Given the description of an element on the screen output the (x, y) to click on. 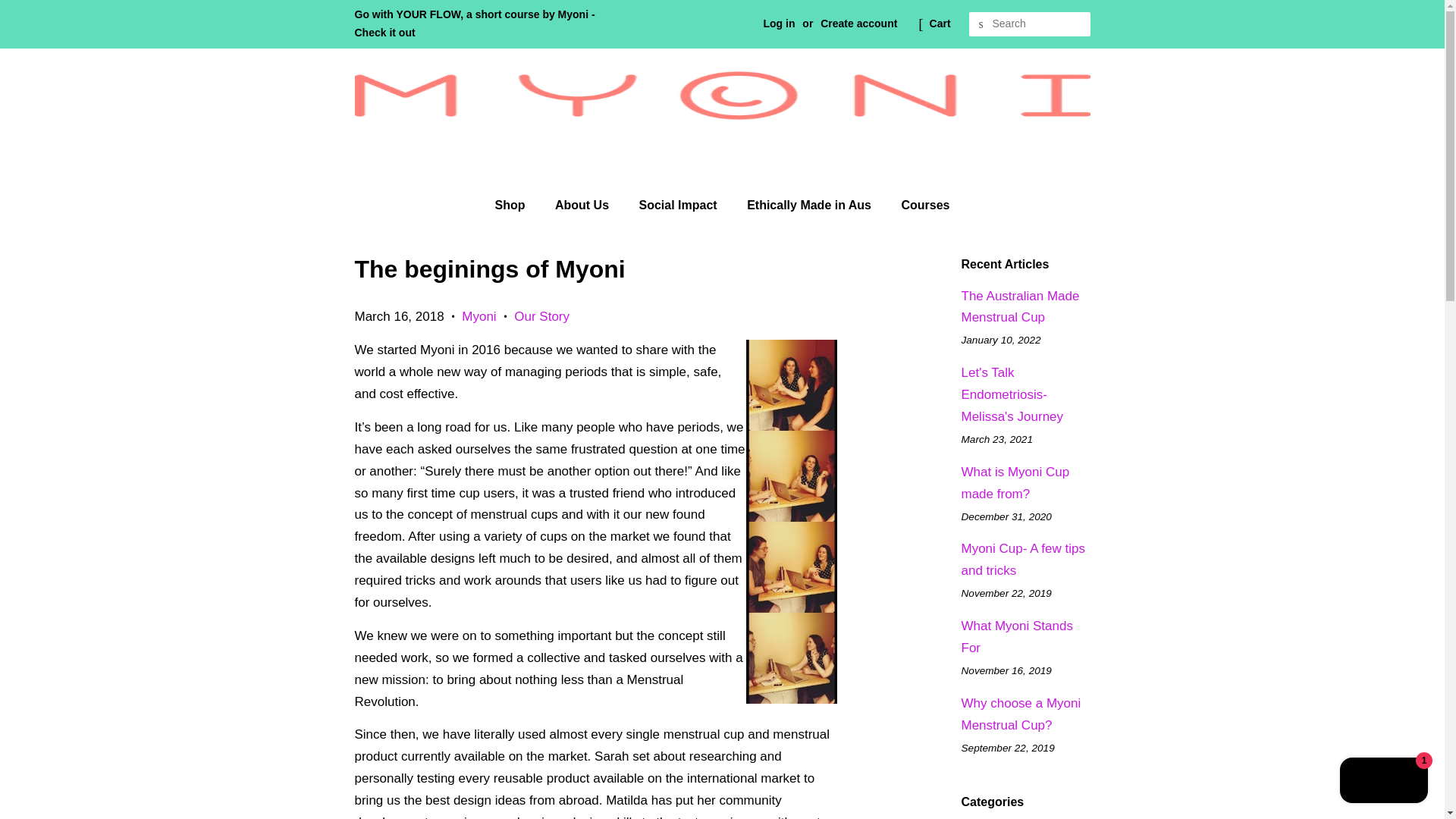
Log in (778, 23)
About Us (583, 204)
Ethically Made in Aus (810, 204)
Our Story (541, 316)
What is Myoni Cup made from? (1015, 483)
Courses (919, 204)
Social Impact (679, 204)
Search (980, 24)
Go with YOUR FLOW, a short course by Myoni - Check it out (475, 23)
Create account (858, 23)
Myoni Cup- A few tips and tricks (1022, 559)
Shop (517, 204)
Why choose a Myoni Menstrual Cup? (1020, 714)
The Australian Made Menstrual Cup (1020, 307)
Cart (940, 24)
